Given the description of an element on the screen output the (x, y) to click on. 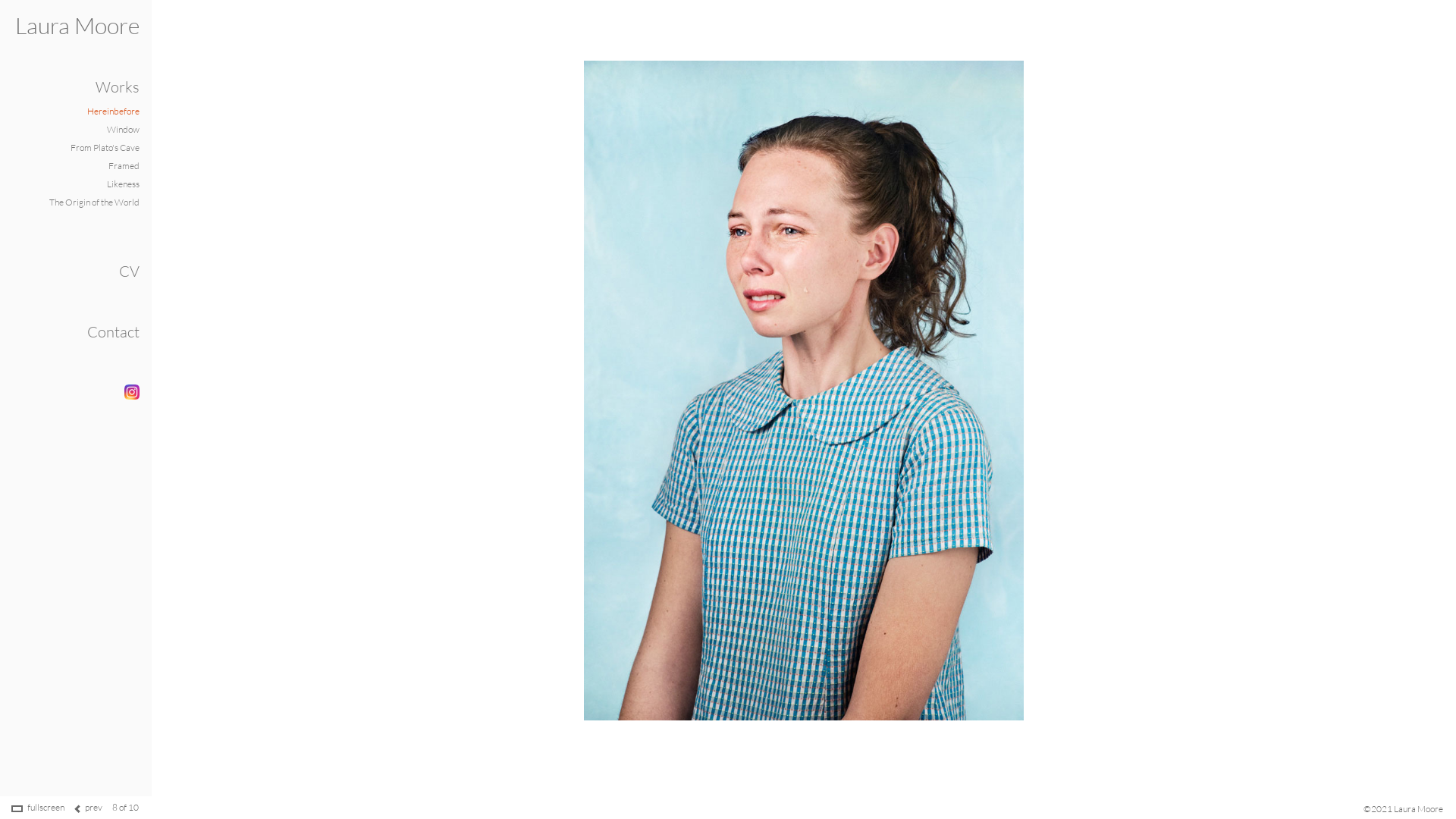
Likeness Element type: text (122, 183)
CV Element type: text (129, 270)
Contact Element type: text (113, 331)
Window Element type: text (122, 128)
Works Element type: text (117, 86)
8 of 10 Element type: text (125, 806)
From Plato's Cave Element type: text (104, 147)
Hereinbefore Element type: text (113, 110)
fullscreen Element type: text (45, 806)
prev Element type: text (93, 806)
Framed Element type: text (123, 165)
The Origin of the World Element type: text (94, 201)
